Given the description of an element on the screen output the (x, y) to click on. 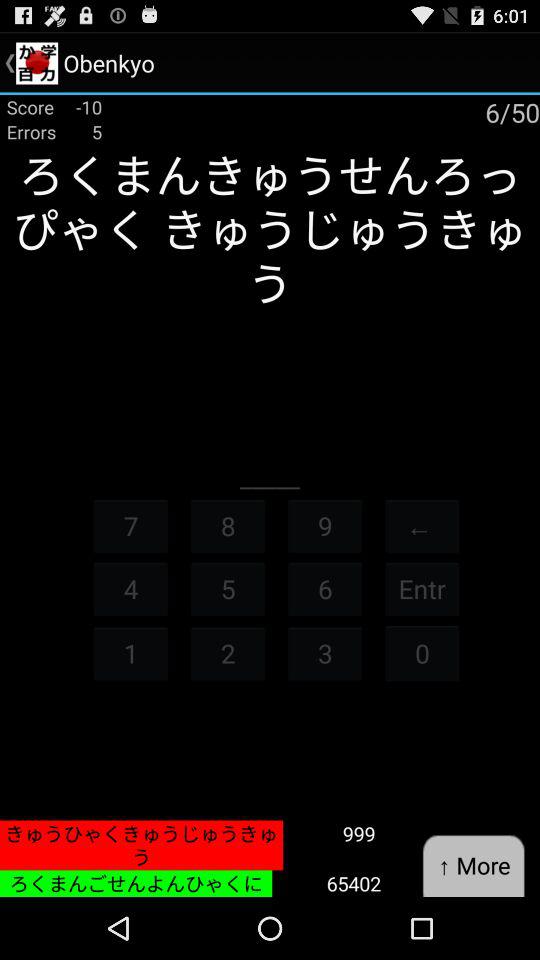
turn on the button to the left of 9 icon (228, 525)
